Given the description of an element on the screen output the (x, y) to click on. 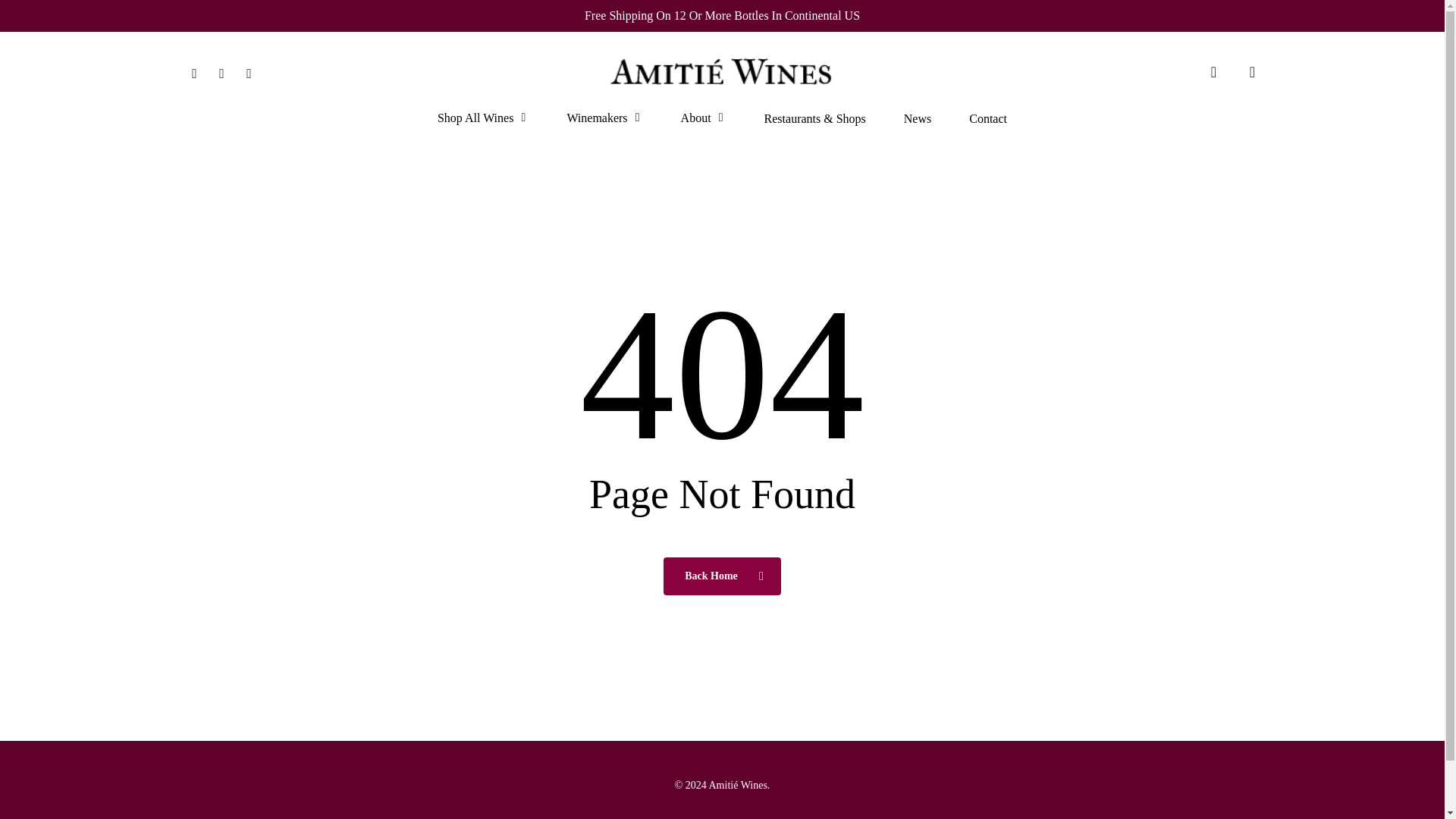
Contact (988, 119)
Facebook (194, 71)
Shop All Wines (483, 118)
About (703, 118)
Email (248, 71)
Instagram (221, 71)
search (1213, 71)
News (917, 119)
Winemakers (604, 118)
